Given the description of an element on the screen output the (x, y) to click on. 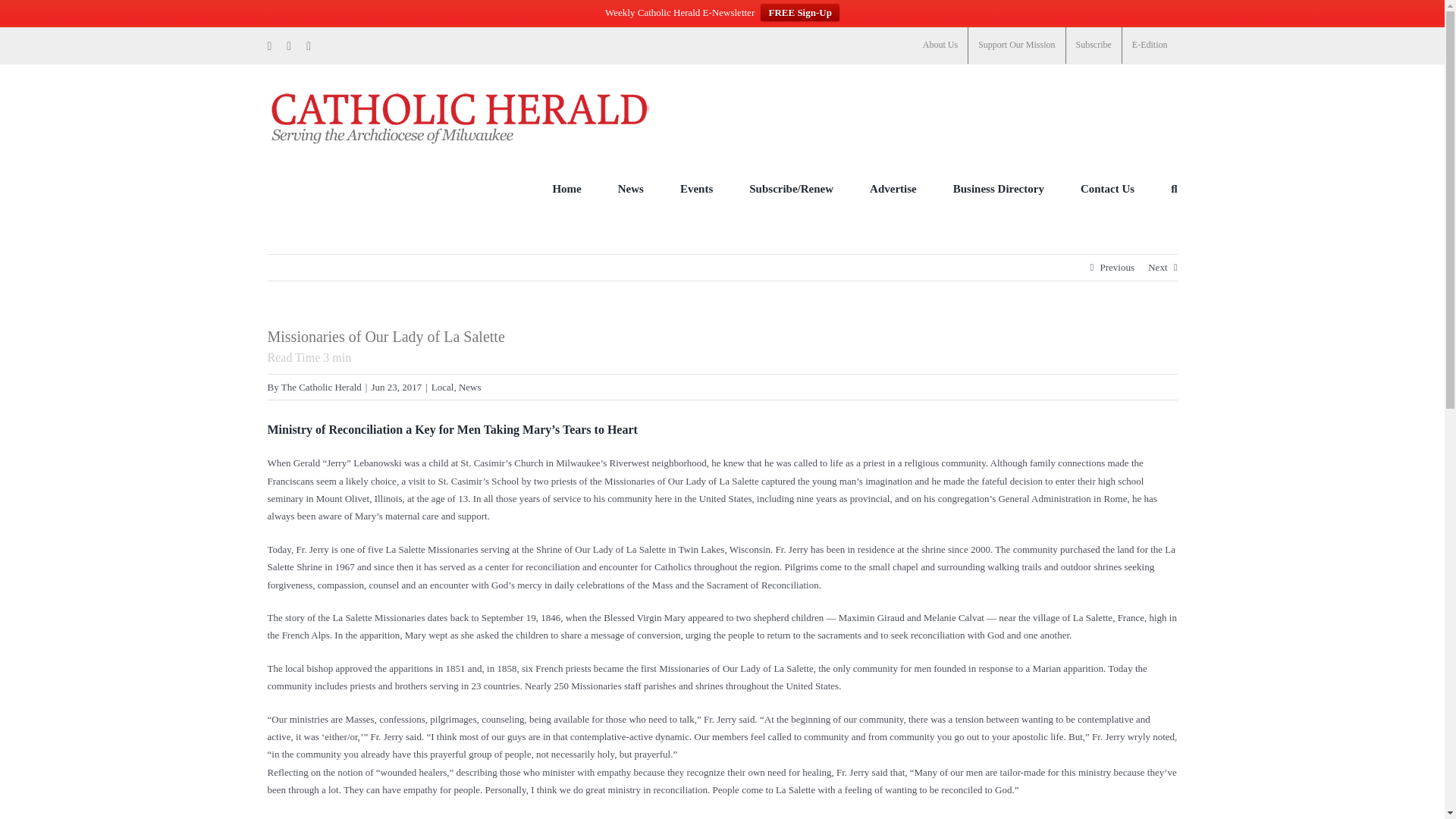
Business Directory (998, 188)
E-Edition (1149, 45)
Posts by The Catholic Herald (321, 387)
Contact Us (1107, 188)
Advertise (893, 188)
Subscribe (1093, 45)
FREE Sign-Up (799, 12)
About Us (940, 45)
Support Our Mission (1016, 45)
